Given the description of an element on the screen output the (x, y) to click on. 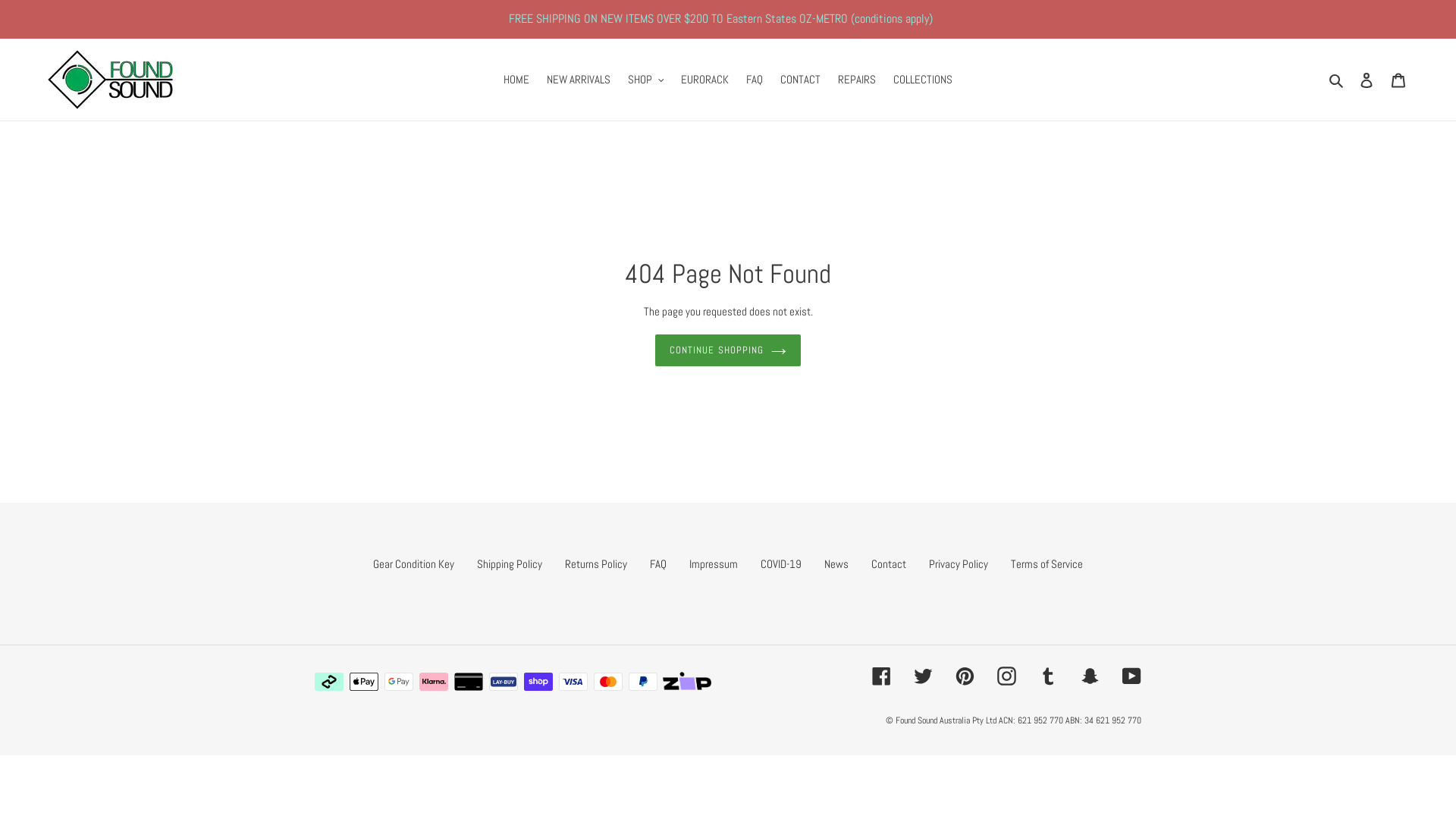
SHOP Element type: text (645, 80)
Contact Element type: text (888, 563)
Pinterest Element type: text (964, 675)
Facebook Element type: text (881, 675)
Search Element type: text (1337, 79)
Instagram Element type: text (1006, 675)
FAQ Element type: text (657, 563)
News Element type: text (836, 563)
NEW ARRIVALS Element type: text (578, 80)
Terms of Service Element type: text (1046, 563)
CONTINUE SHOPPING Element type: text (727, 350)
Privacy Policy Element type: text (958, 563)
YouTube Element type: text (1131, 675)
COVID-19 Element type: text (780, 563)
FAQ Element type: text (754, 80)
REPAIRS Element type: text (856, 80)
Snapchat Element type: text (1089, 675)
Tumblr Element type: text (1047, 675)
CONTACT Element type: text (800, 80)
Returns Policy Element type: text (595, 563)
Log in Element type: text (1366, 79)
Shipping Policy Element type: text (509, 563)
COLLECTIONS Element type: text (922, 80)
Impressum Element type: text (713, 563)
Gear Condition Key Element type: text (413, 563)
Cart Element type: text (1398, 79)
HOME Element type: text (515, 80)
Twitter Element type: text (922, 675)
EURORACK Element type: text (704, 80)
